Given the description of an element on the screen output the (x, y) to click on. 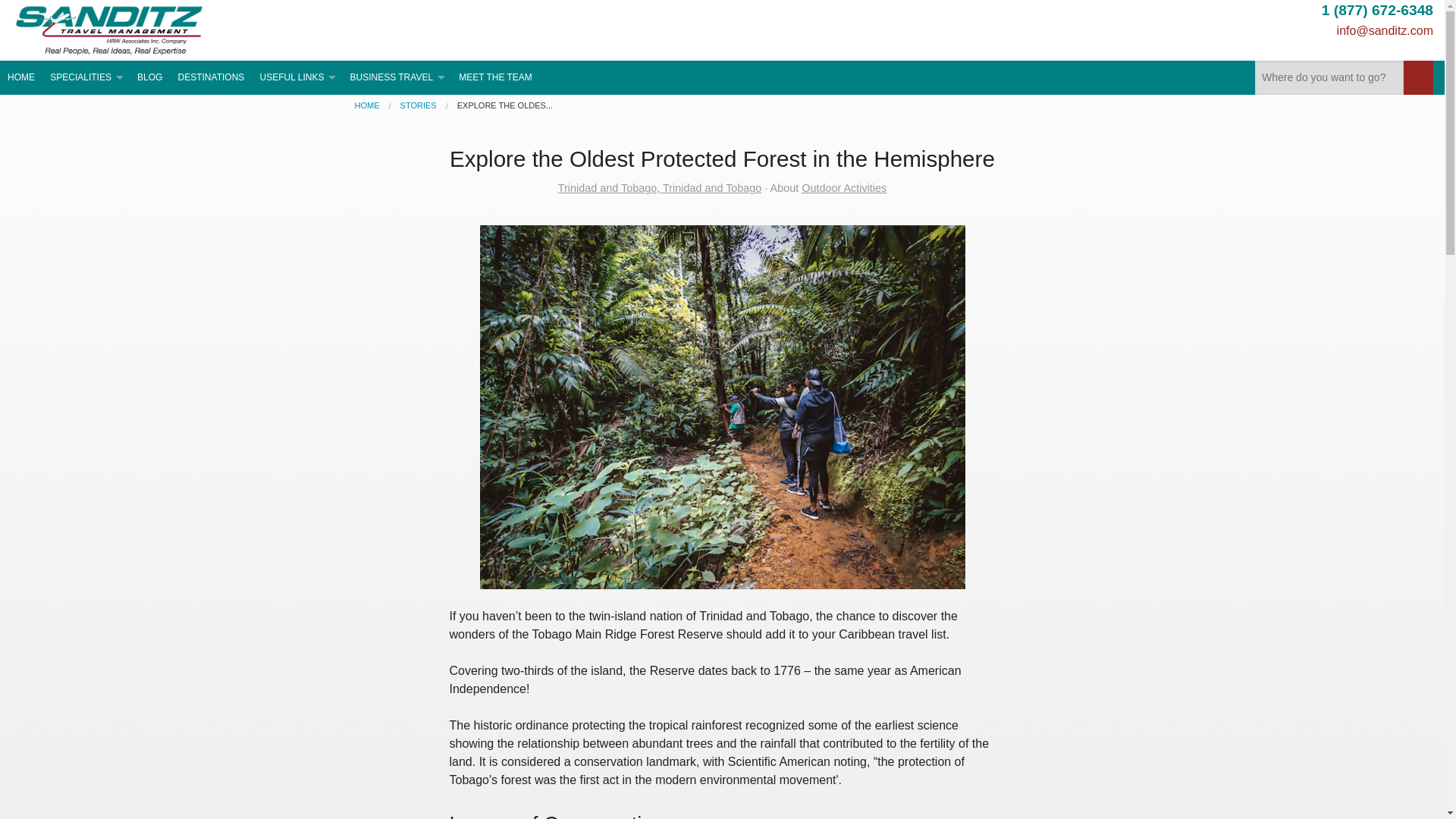
TRAVEL TOOLS (296, 133)
ATTRACTIONS (85, 438)
WEDDINGS (85, 311)
HOME (367, 104)
FAMILY VACATIONS (85, 184)
GROUPS (85, 285)
TRAVEL INSURANCE (296, 158)
HOTEL RESERVATION SEARCH (296, 184)
CORPORATE PROFILE (396, 107)
TRIP CASE (396, 133)
BLOG (149, 77)
ADVENTURE TRAVEL (85, 260)
ALL INCLUSIVE VACATIONS (85, 208)
USEFUL LINKS (296, 77)
SPECIALITIES (85, 77)
